Given the description of an element on the screen output the (x, y) to click on. 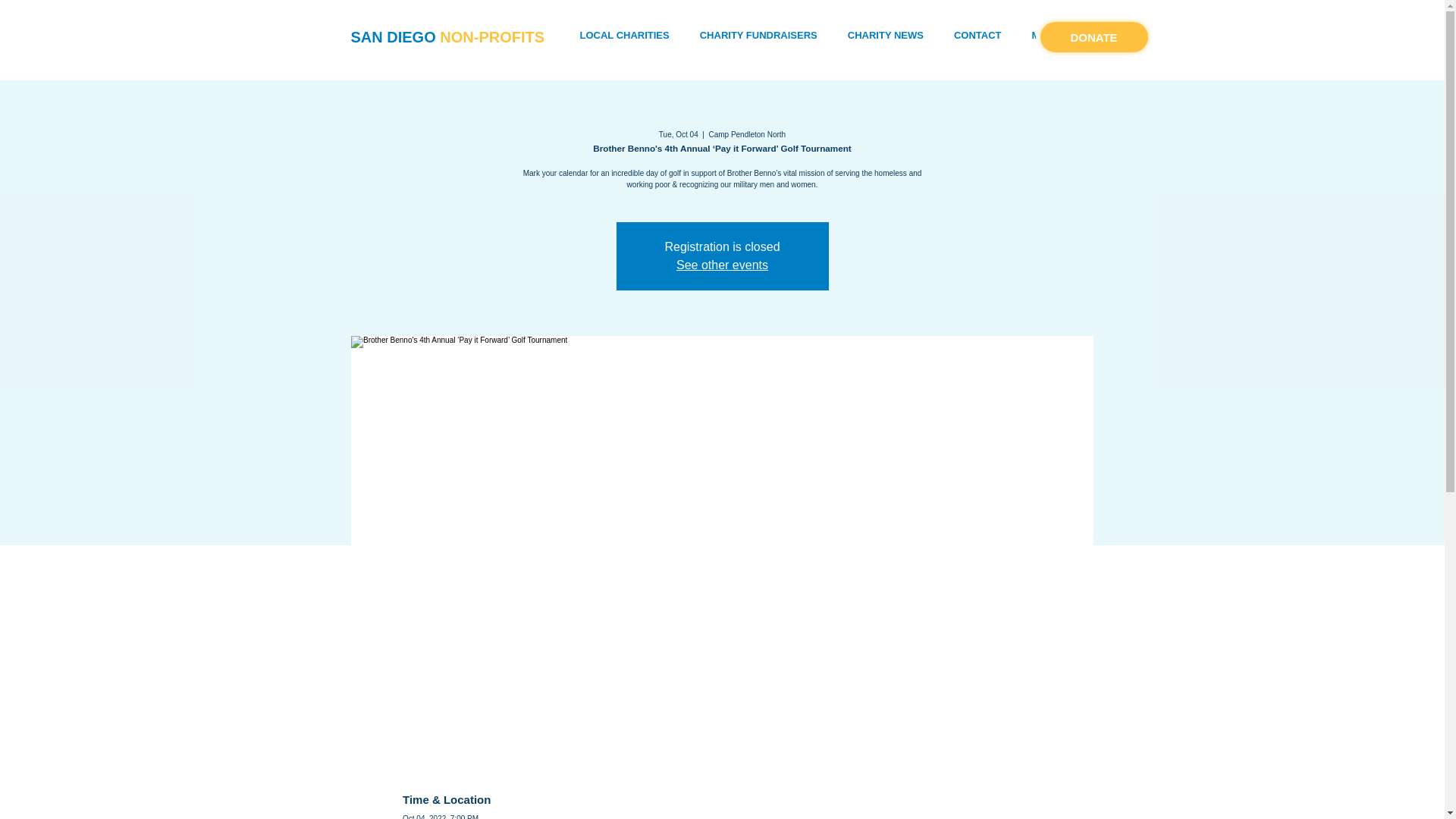
CHARITY NEWS (885, 36)
See other events (722, 264)
DONATE (1094, 37)
CONTACT (977, 36)
CHARITY FUNDRAISERS (758, 36)
SAN DIEGO NON-PROFITS (447, 36)
